Given the description of an element on the screen output the (x, y) to click on. 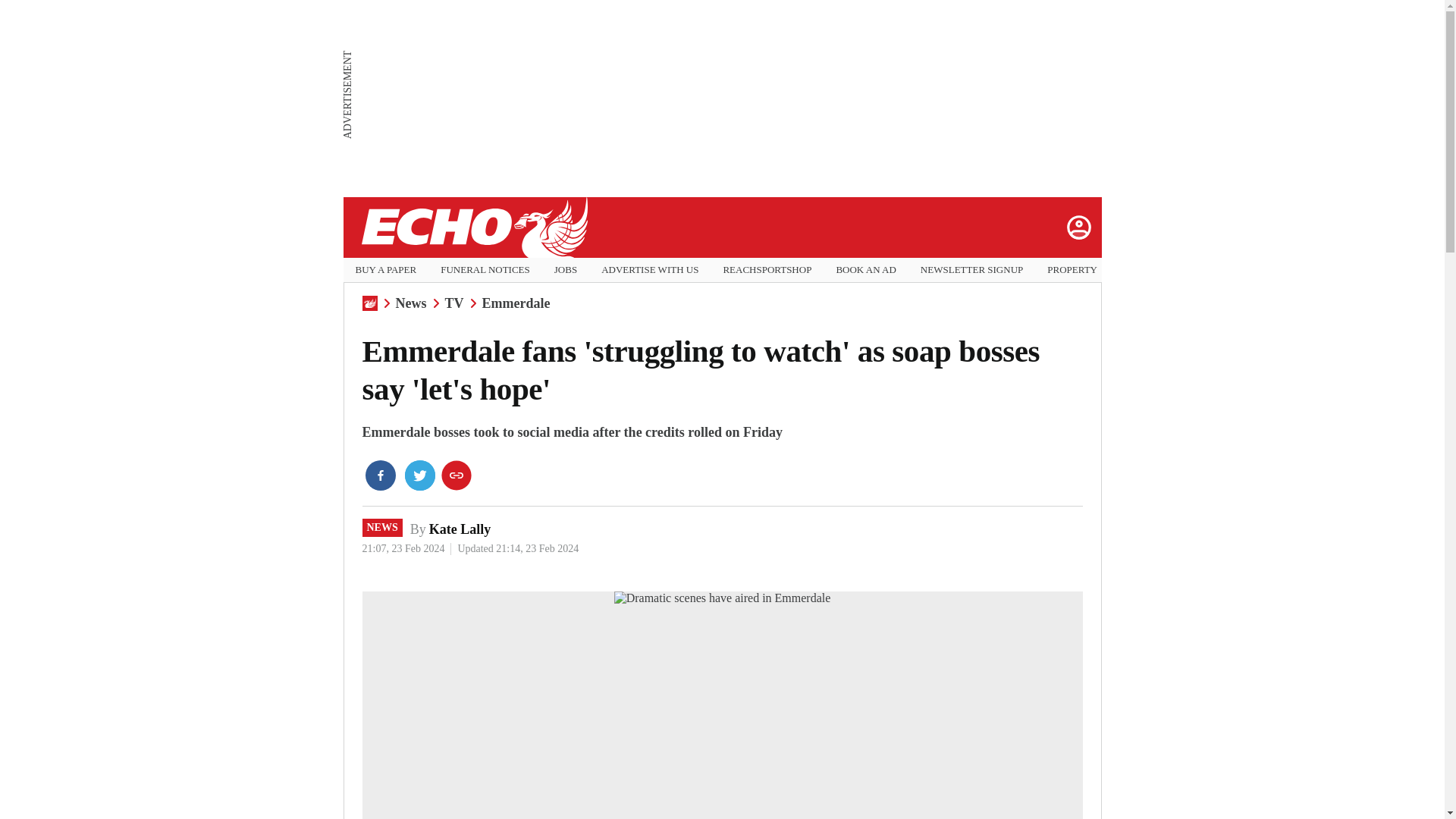
REACHSPORTSHOP (766, 270)
BOOK AN AD (865, 270)
PROPERTY (1071, 270)
News (411, 303)
avatar (1077, 227)
ADVERTISE WITH US (649, 270)
copy link (456, 475)
NEWS (382, 527)
NEWSLETTER SIGNUP (971, 270)
Emmerdale (515, 303)
